Given the description of an element on the screen output the (x, y) to click on. 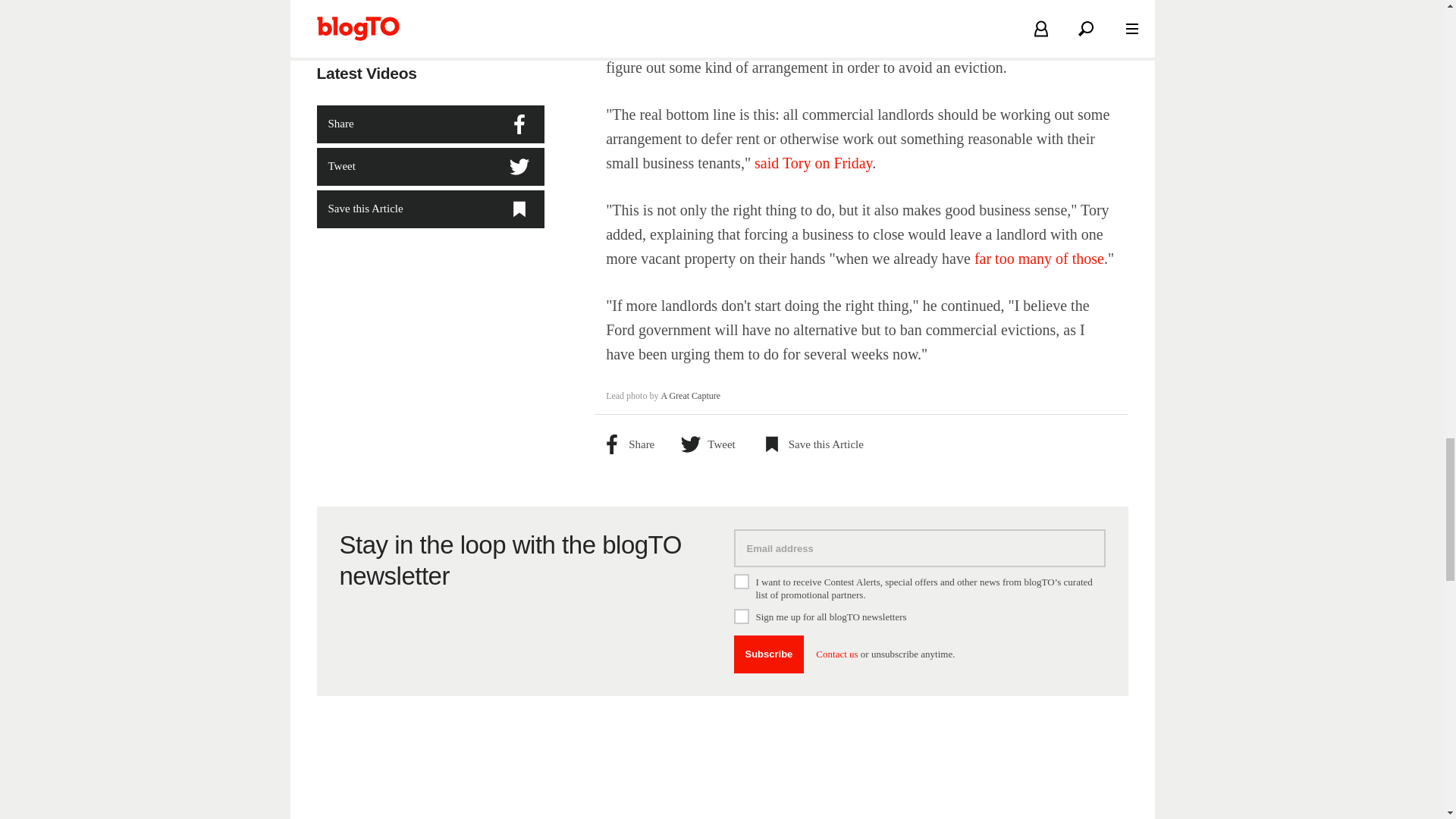
Subscribe (769, 654)
